Given the description of an element on the screen output the (x, y) to click on. 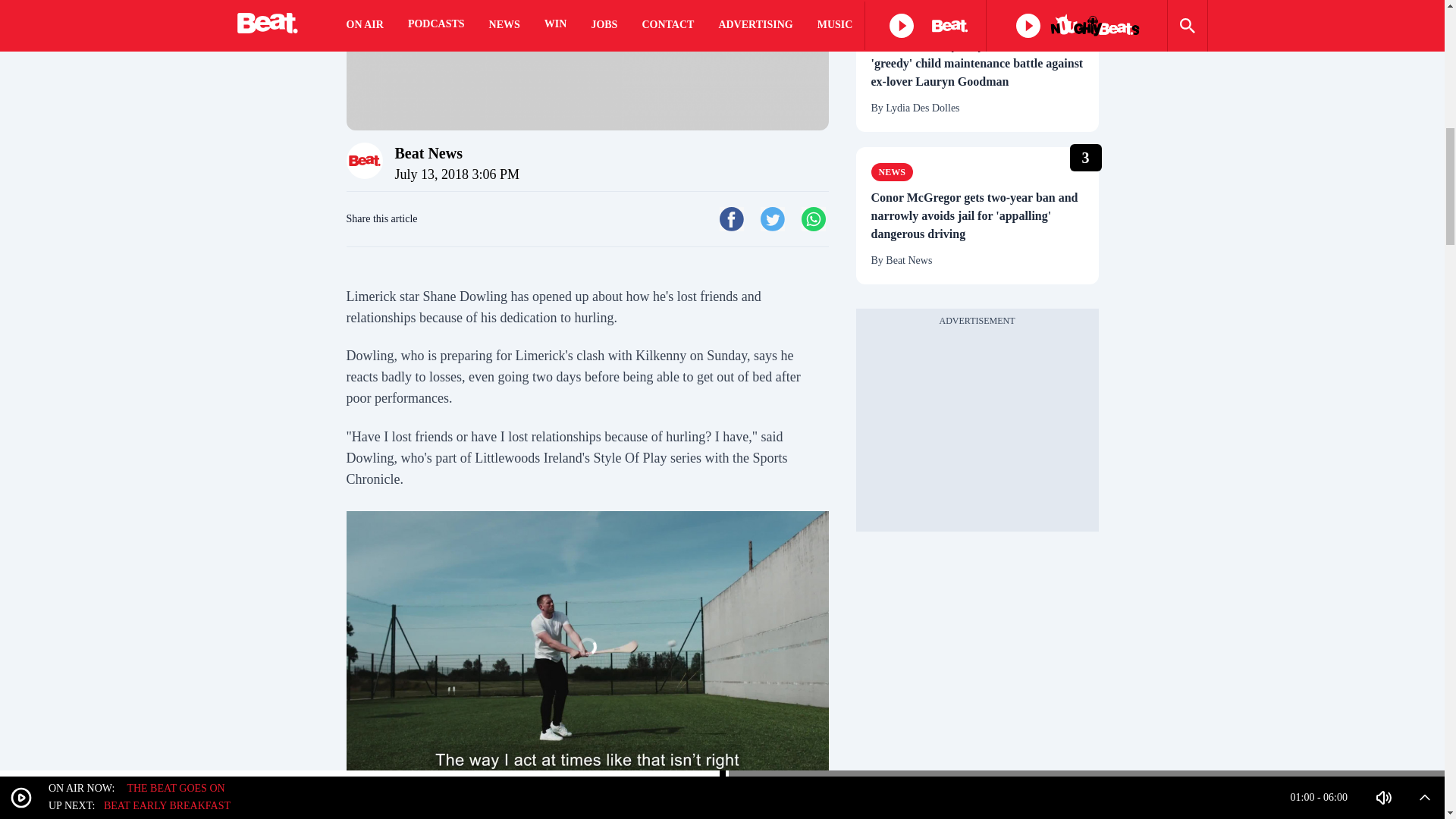
News (891, 171)
Entertainment (918, 19)
